Given the description of an element on the screen output the (x, y) to click on. 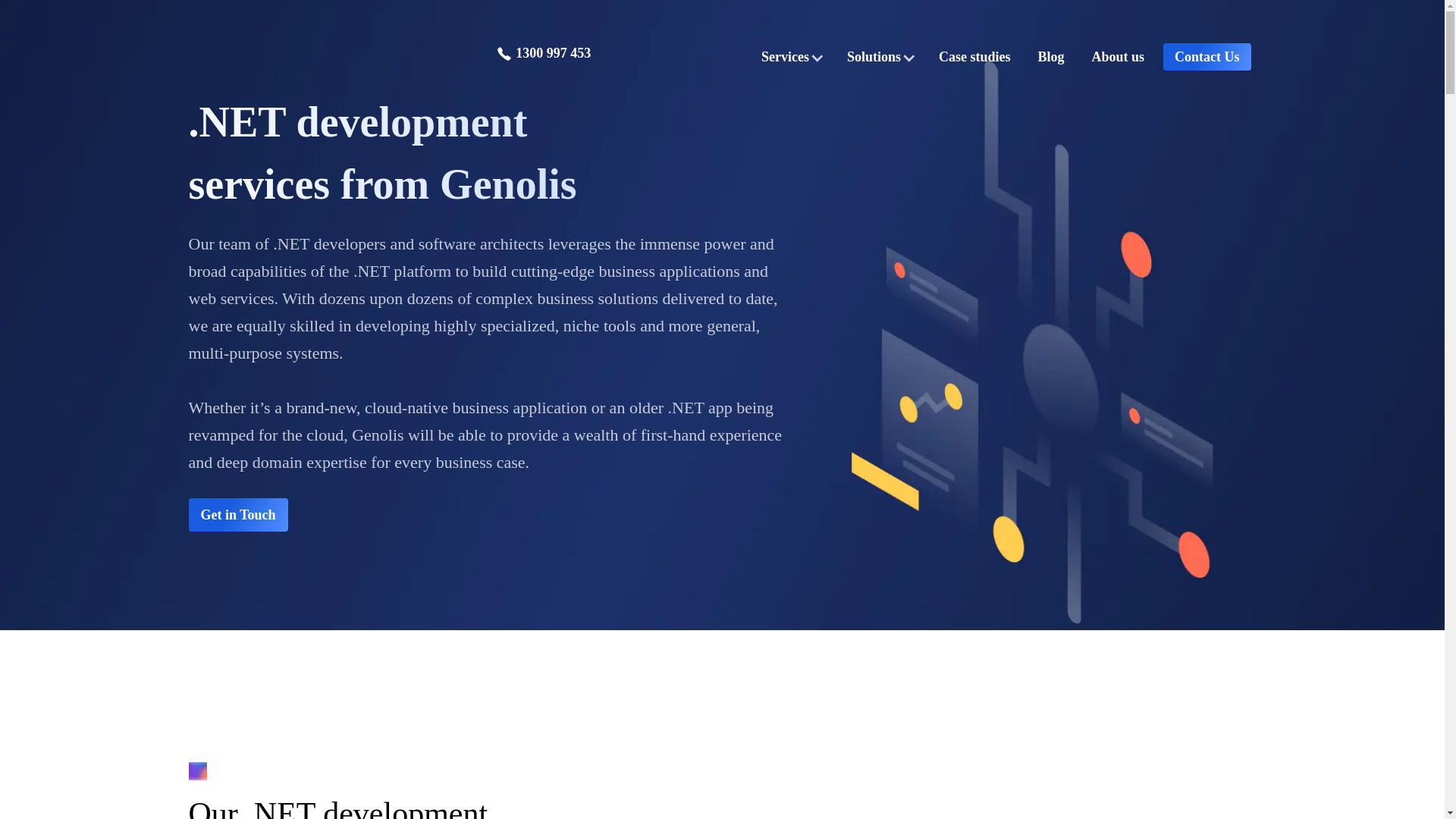
Services (790, 56)
1300 997 453 (543, 52)
Blog (1050, 56)
About us (1118, 56)
Solutions (879, 56)
Contact Us (1206, 56)
Case studies (974, 56)
Get in Touch (236, 514)
